Given the description of an element on the screen output the (x, y) to click on. 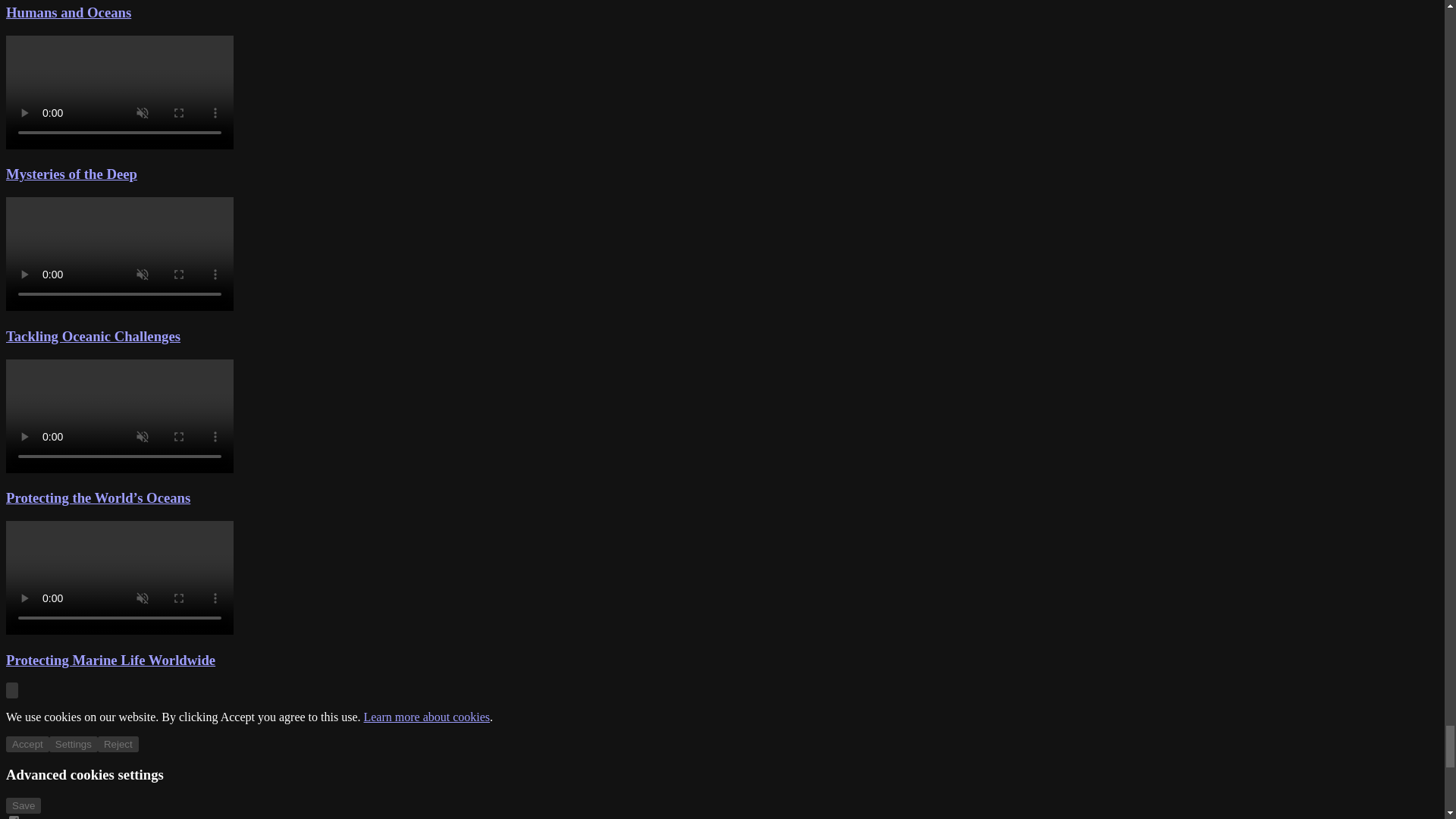
on (13, 817)
